Given the description of an element on the screen output the (x, y) to click on. 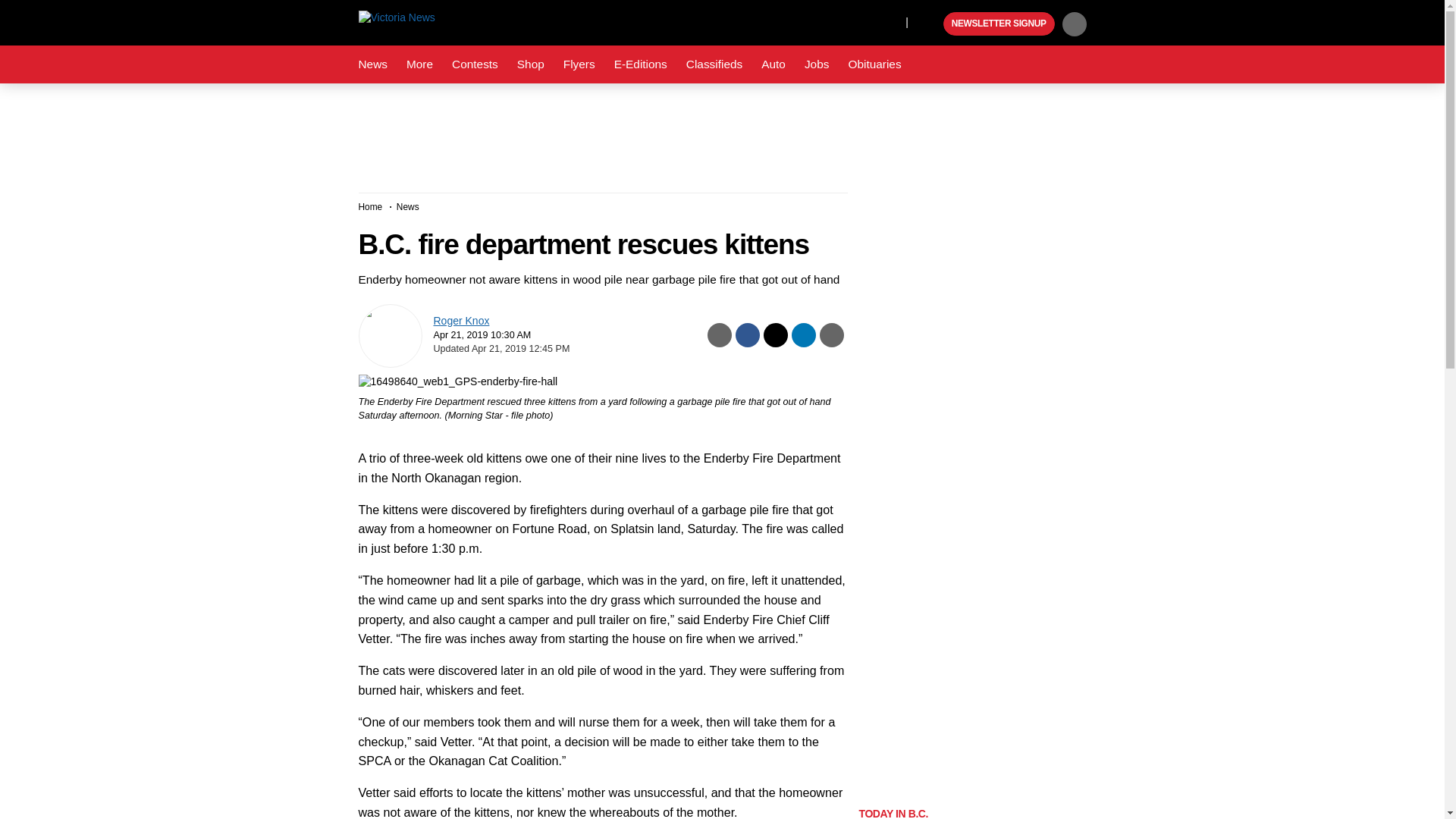
News (372, 64)
NEWSLETTER SIGNUP (998, 24)
X (889, 21)
Black Press Media (929, 24)
Play (929, 24)
